Given the description of an element on the screen output the (x, y) to click on. 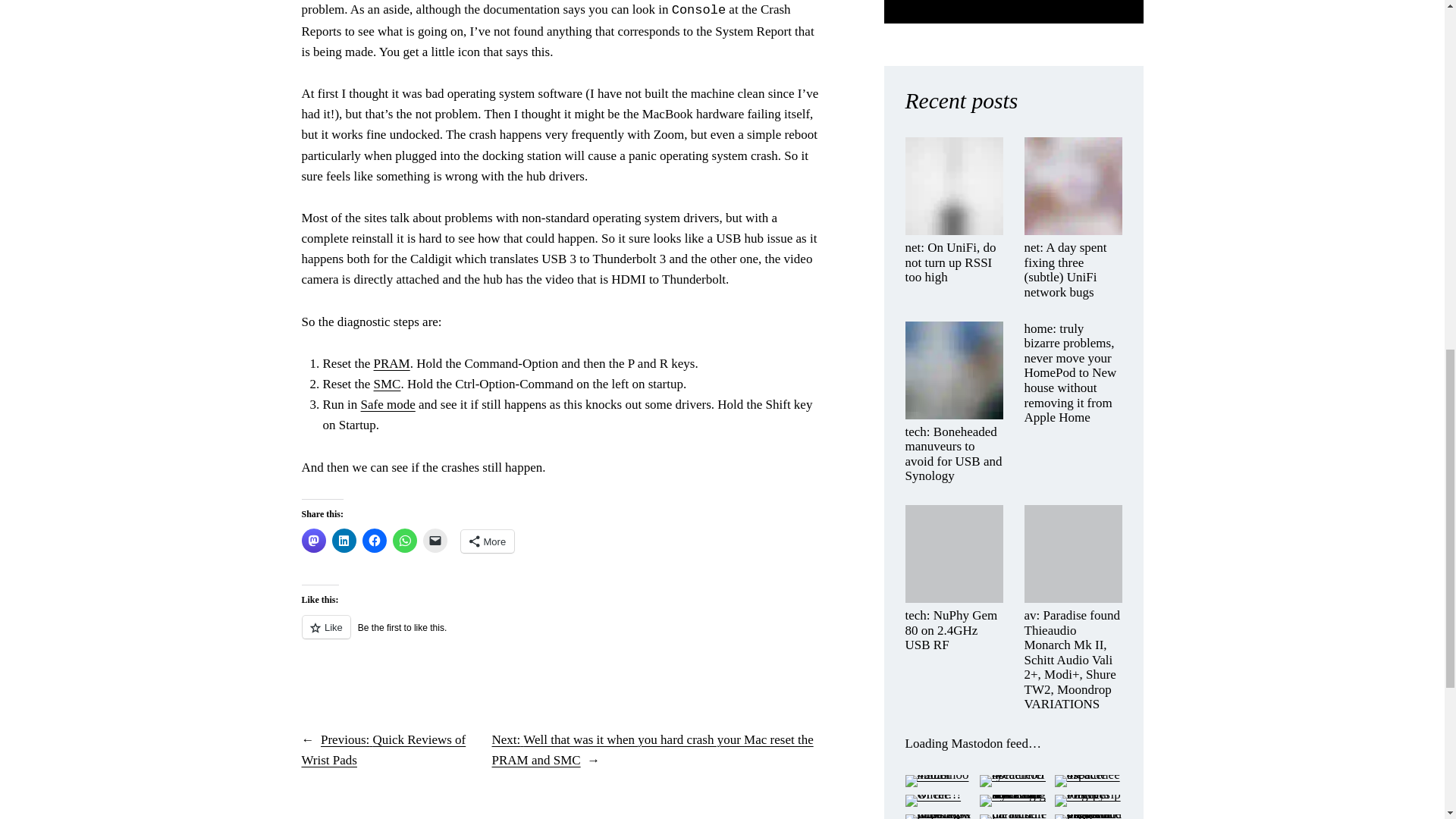
PRAM (392, 363)
net: On UniFi, do not turn up RSSI too high (954, 262)
Previous: Quick Reviews of Wrist Pads (383, 749)
Like or Reblog (561, 635)
Safe mode (387, 404)
SMC (387, 383)
Click to share on WhatsApp (404, 540)
Click to email a link to a friend (434, 540)
Click to share on Facebook (374, 540)
Click to share on LinkedIn (343, 540)
Click to share on Mastodon (313, 540)
More (488, 540)
